Given the description of an element on the screen output the (x, y) to click on. 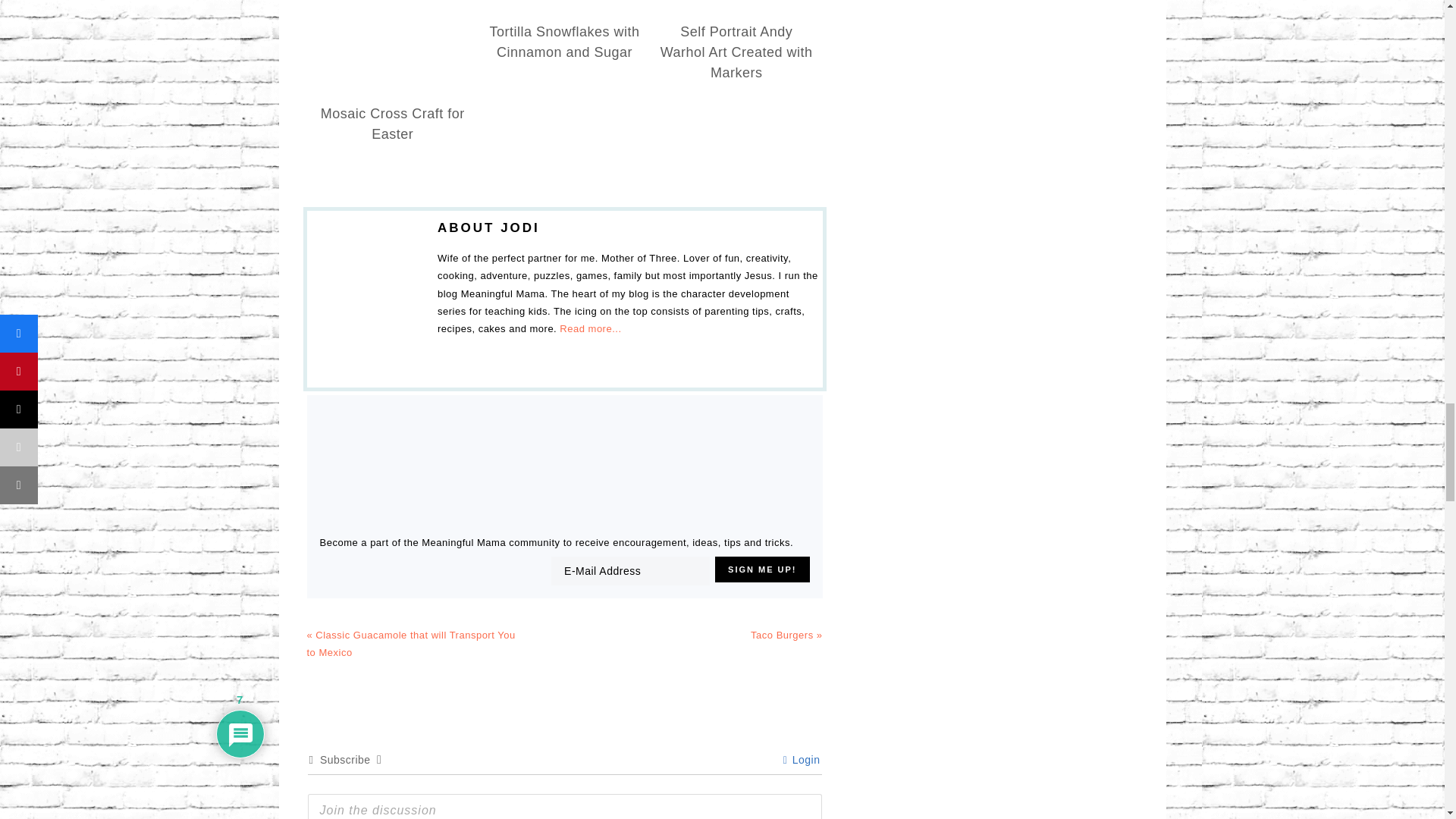
Permanent Link to Mosaic Cross Craft for Easter (392, 123)
Sign Me Up! (761, 569)
